Given the description of an element on the screen output the (x, y) to click on. 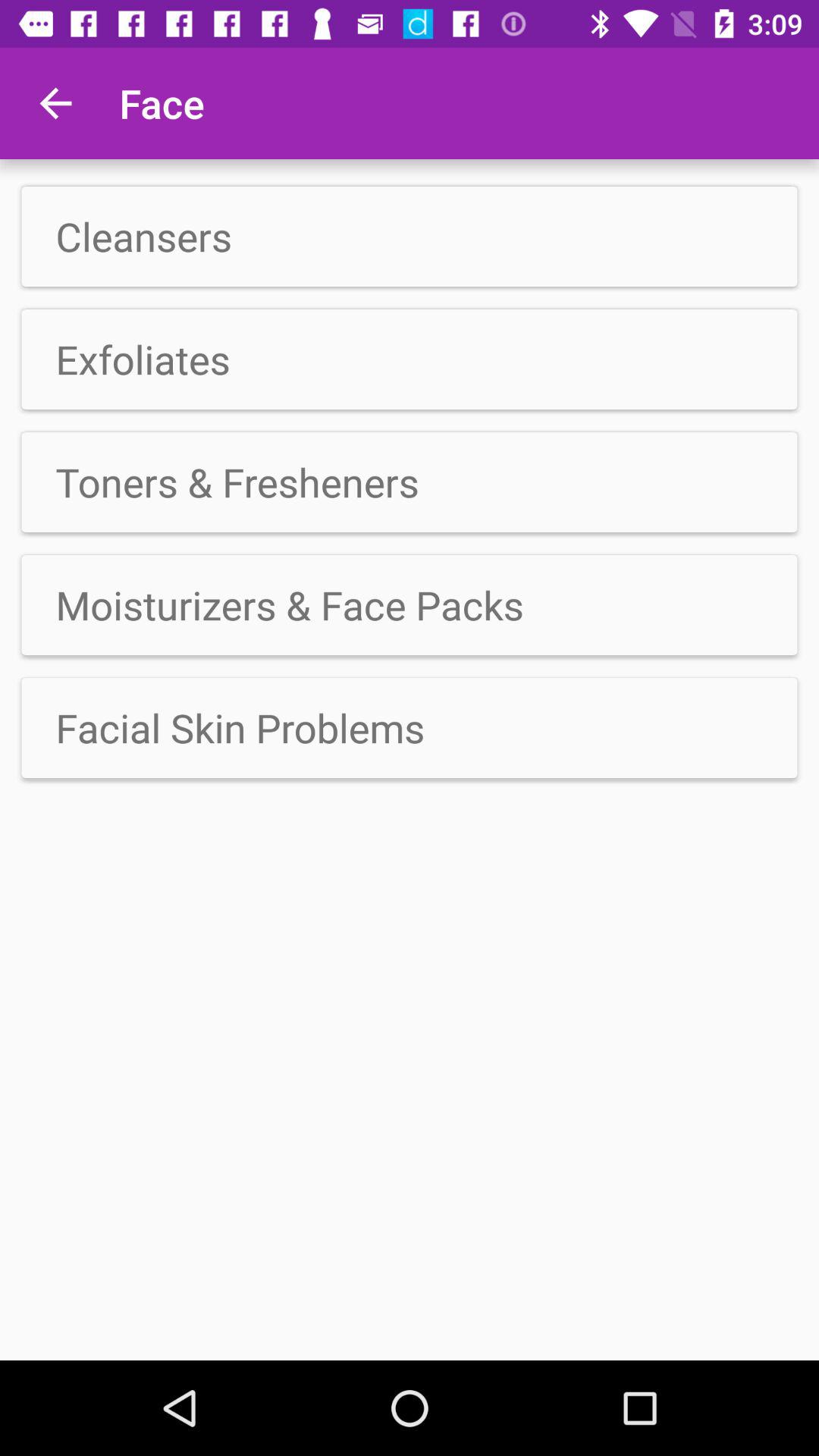
click icon above facial skin problems item (409, 604)
